Given the description of an element on the screen output the (x, y) to click on. 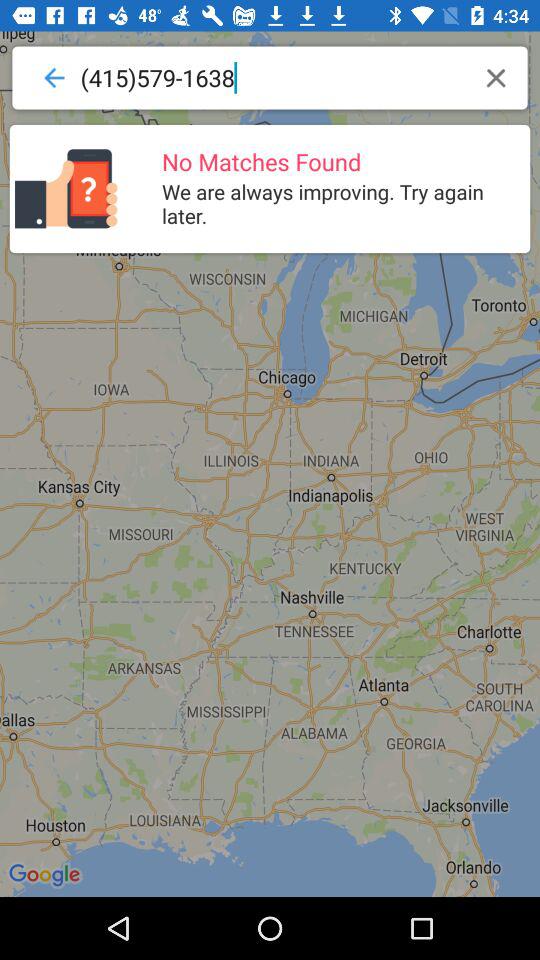
flip to (415)579-1638 (274, 77)
